Given the description of an element on the screen output the (x, y) to click on. 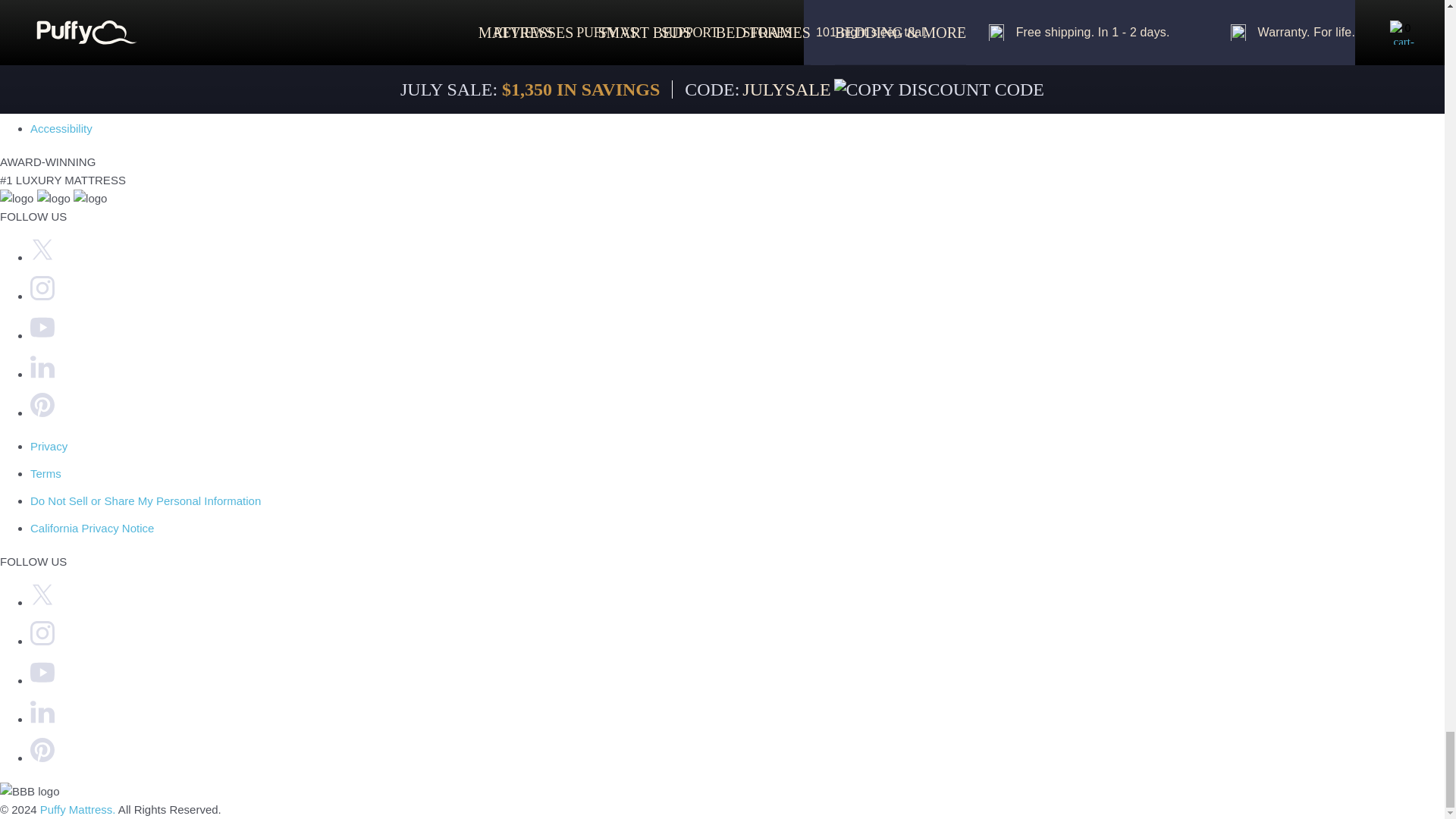
Puffy Mattress on Youtube (42, 680)
Puffy Mattress on Twitter (42, 602)
Puffy Mattress on Pinterest (42, 757)
Puffy Mattress on Twitter (42, 256)
Puffy Mattress on LinkedIn (42, 718)
Puffy Mattress on Instagram (42, 295)
Puffy Mattress on Youtube (42, 335)
Puffy Mattress on Instagram (42, 640)
Puffy Mattress on Pinterest (42, 412)
Puffy Mattress on LinkedIn (42, 373)
